Given the description of an element on the screen output the (x, y) to click on. 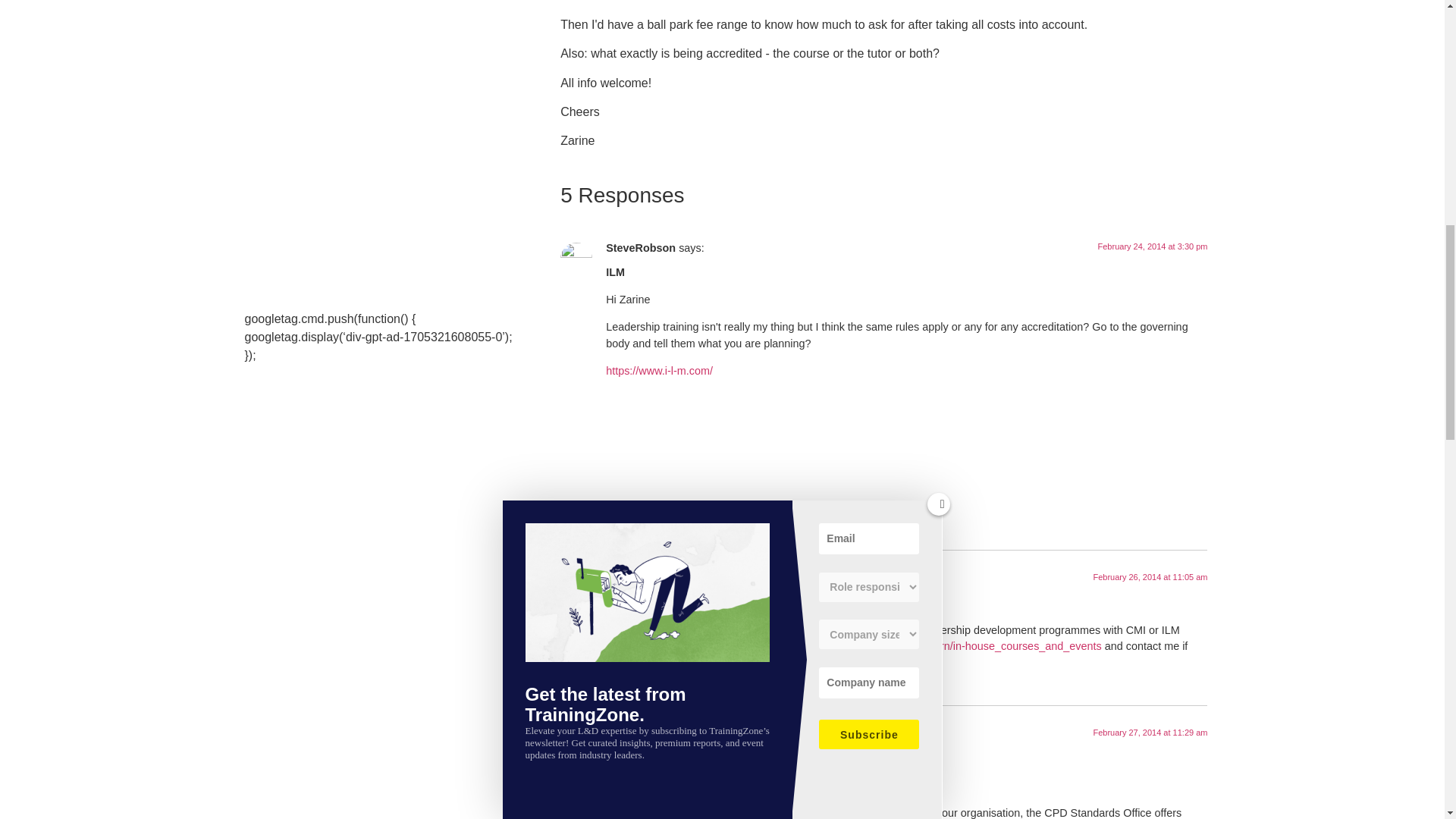
February 26, 2014 at 11:05 am (1150, 576)
February 24, 2014 at 3:30 pm (1152, 245)
